Given the description of an element on the screen output the (x, y) to click on. 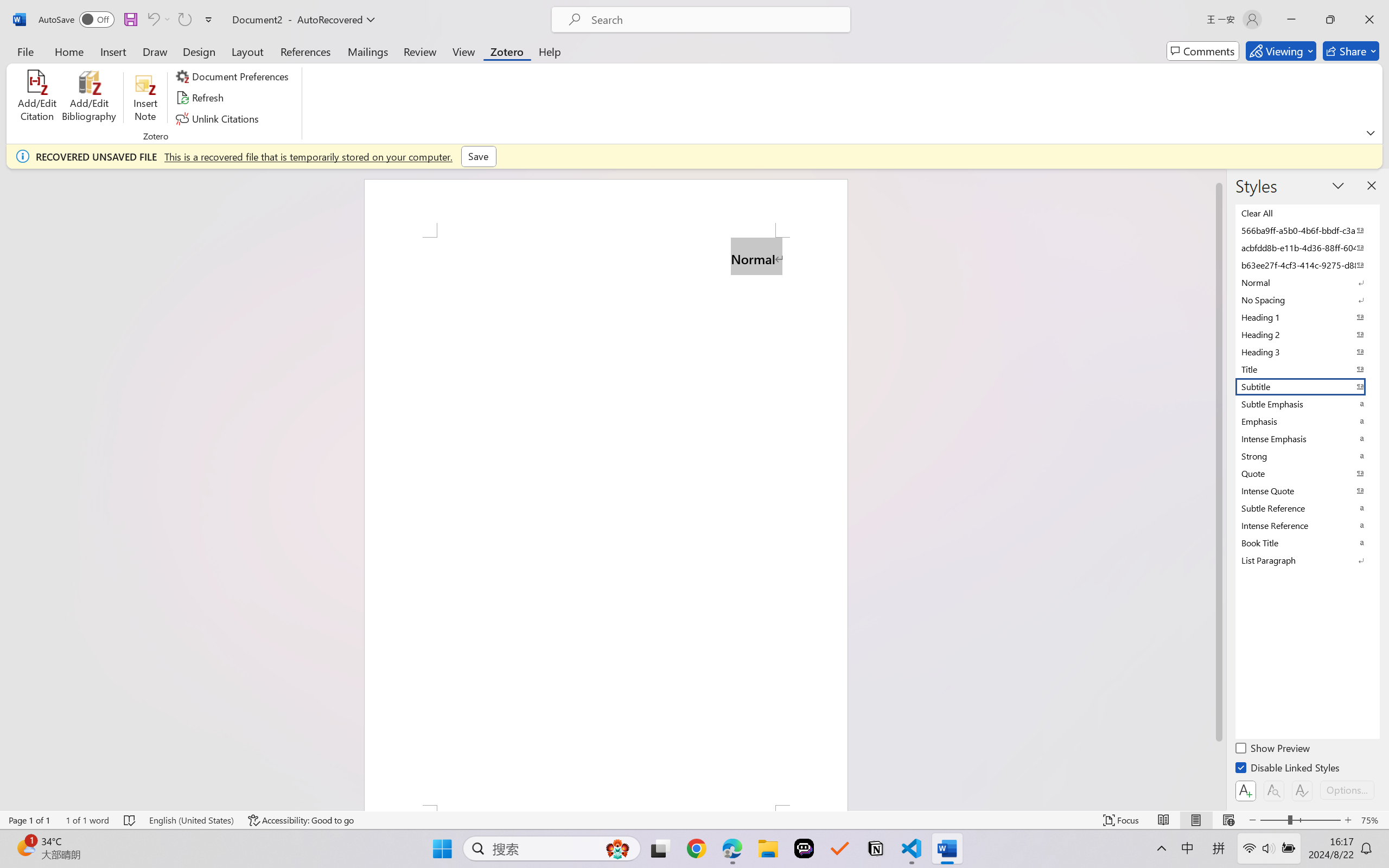
Can't Undo (158, 19)
Unlink Citations (218, 118)
Class: NetUIScrollBar (1219, 489)
Intense Emphasis (1306, 438)
Insert Note (145, 97)
Refresh (201, 97)
Normal (1306, 282)
Heading 3 (1306, 352)
